Given the description of an element on the screen output the (x, y) to click on. 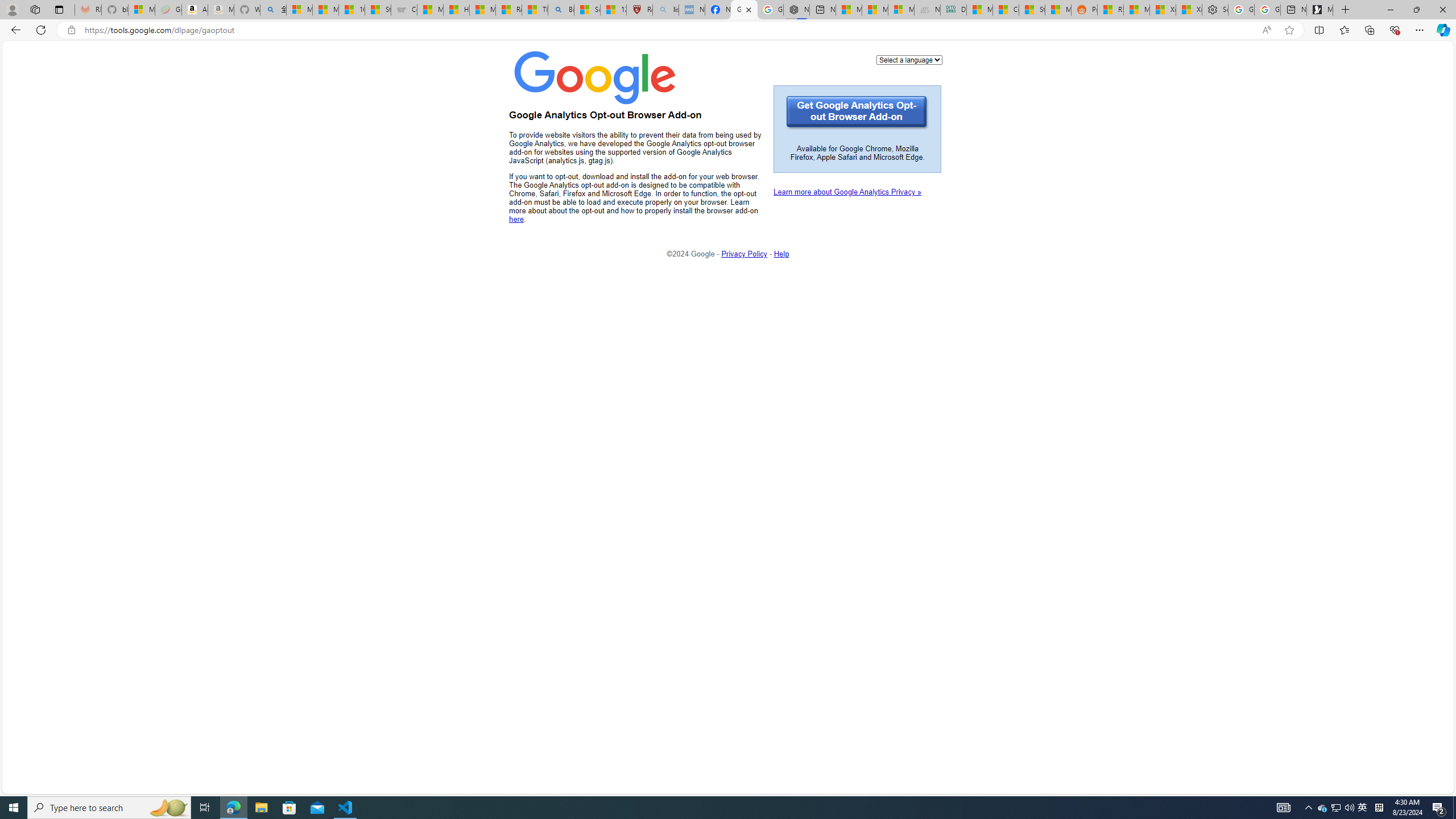
here (516, 218)
How I Got Rid of Microsoft Edge's Unnecessary Features (456, 9)
Privacy Policy (743, 252)
